Given the description of an element on the screen output the (x, y) to click on. 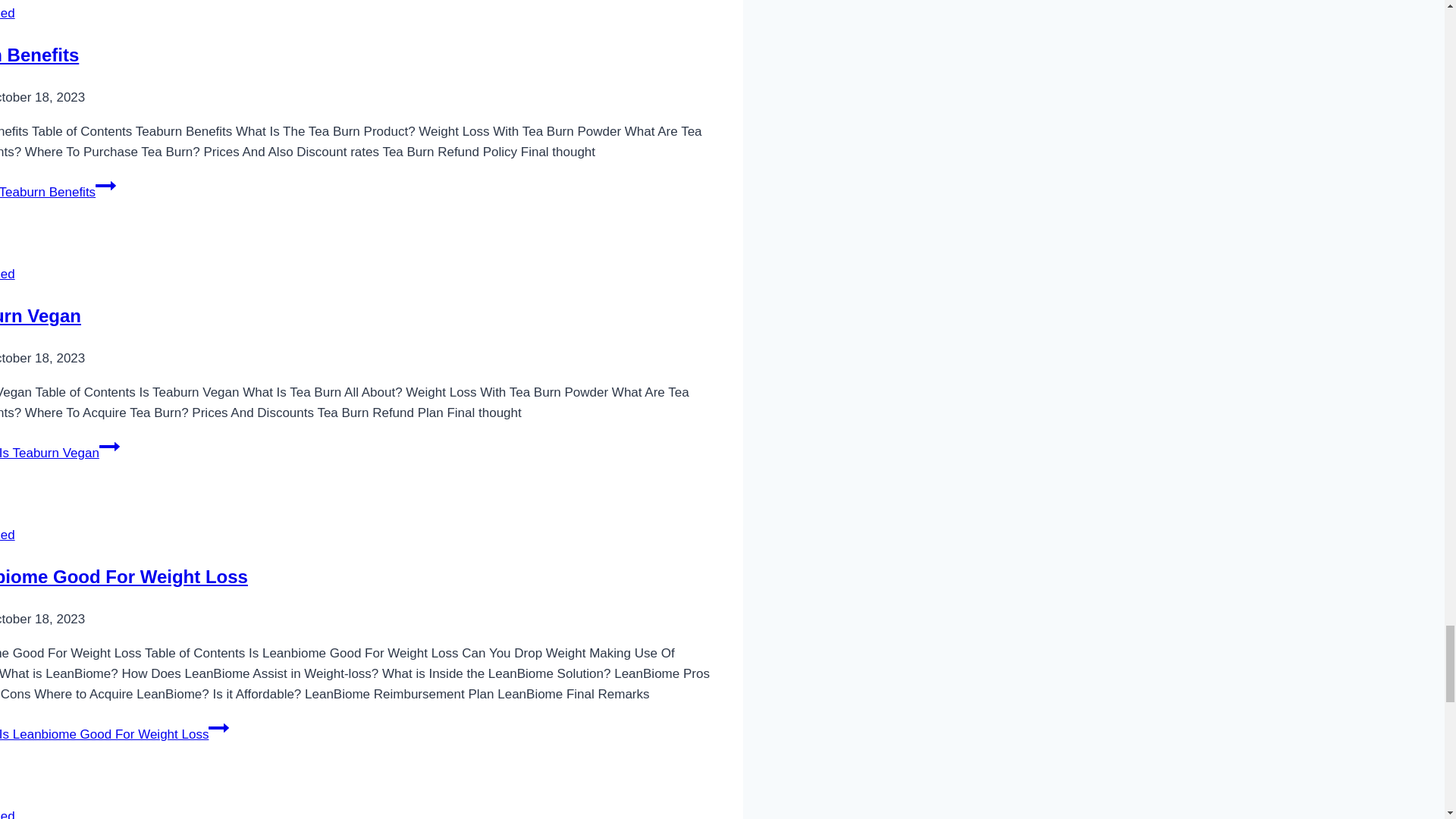
Continue (109, 446)
Is Teaburn Vegan (40, 315)
Uncategorized (7, 12)
Uncategorized (7, 273)
Read More Teaburn BenefitsContinue (58, 192)
Continue (106, 185)
Continue (218, 727)
Teaburn Benefits (39, 55)
